Given the description of an element on the screen output the (x, y) to click on. 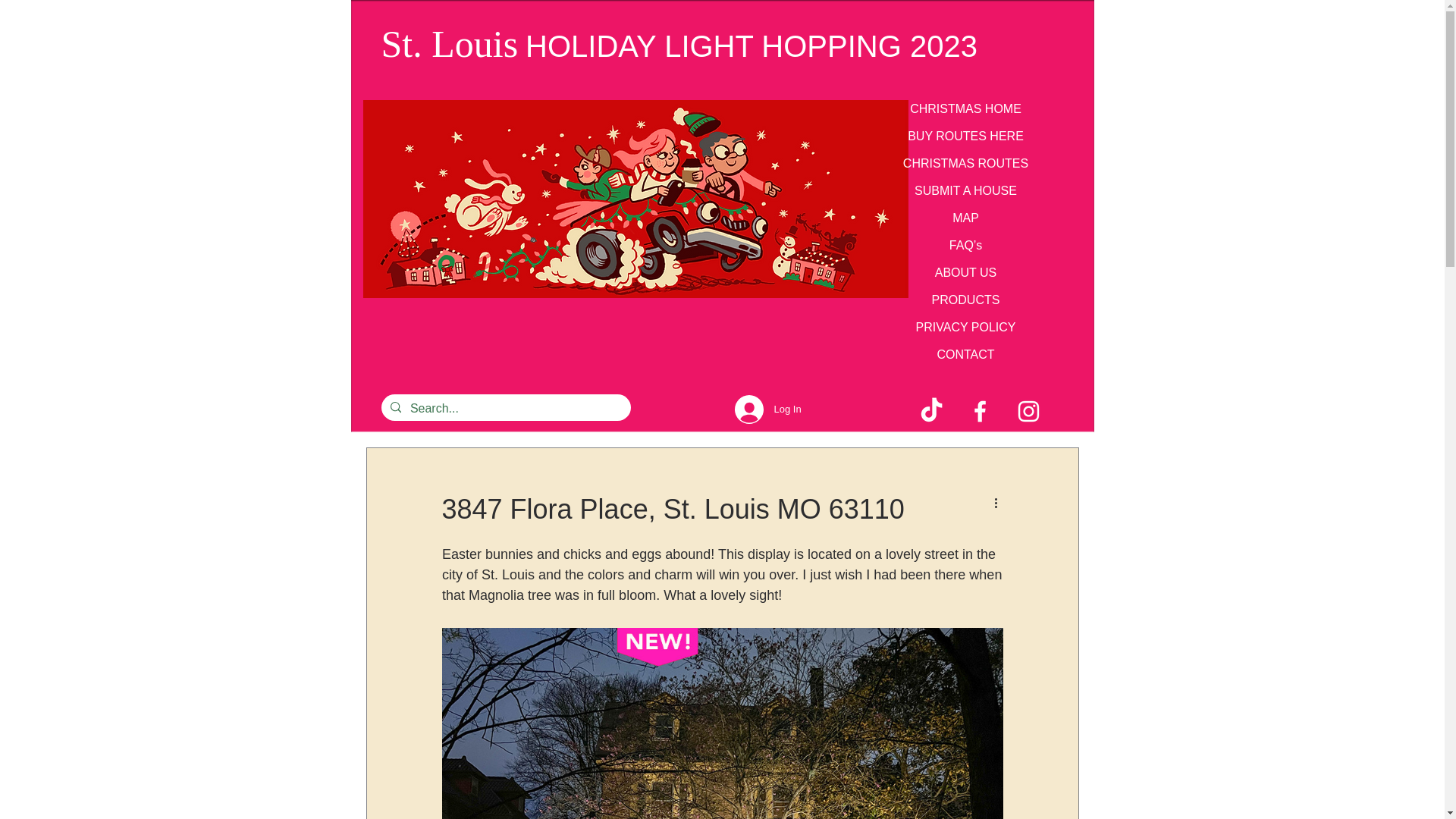
CHRISTMAS HOME (965, 108)
CONTACT (965, 354)
SUBMIT A HOUSE (965, 190)
PRIVACY POLICY (965, 326)
Log In (758, 409)
MAP (965, 217)
BUY ROUTES HERE (965, 135)
CHRISTMAS ROUTES (965, 162)
PRODUCTS (965, 299)
St. Louis HOLIDAY LIGHT HOPPING 2023 (678, 47)
ABOUT US (965, 272)
